Given the description of an element on the screen output the (x, y) to click on. 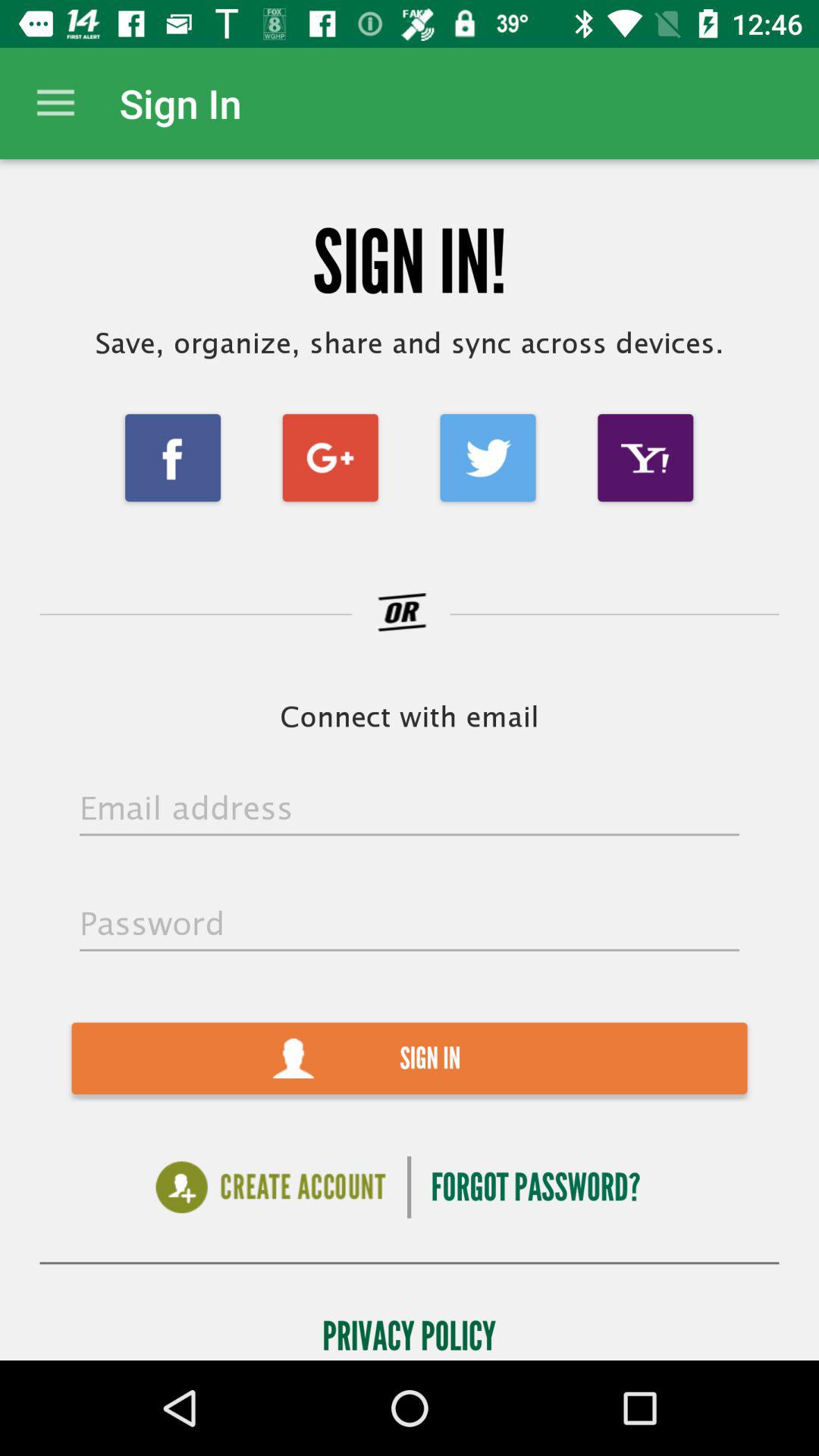
tap privacy policy icon (408, 1332)
